Given the description of an element on the screen output the (x, y) to click on. 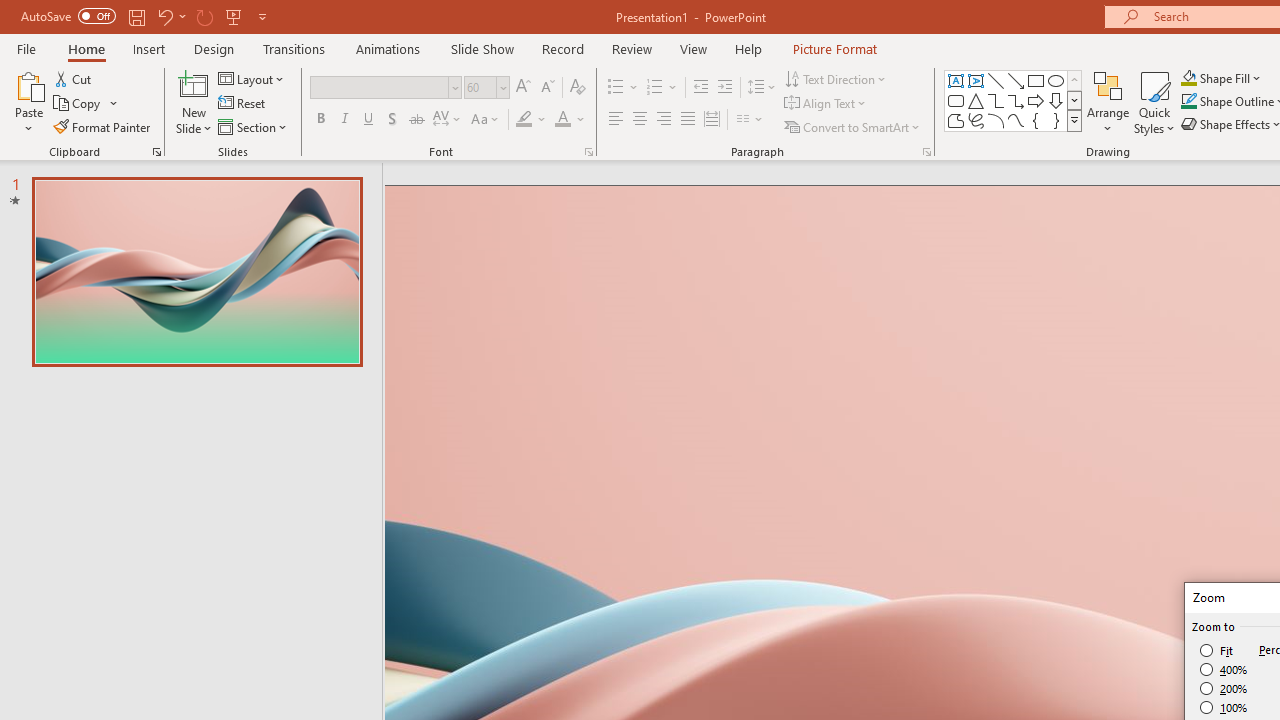
400% (1224, 669)
